Given the description of an element on the screen output the (x, y) to click on. 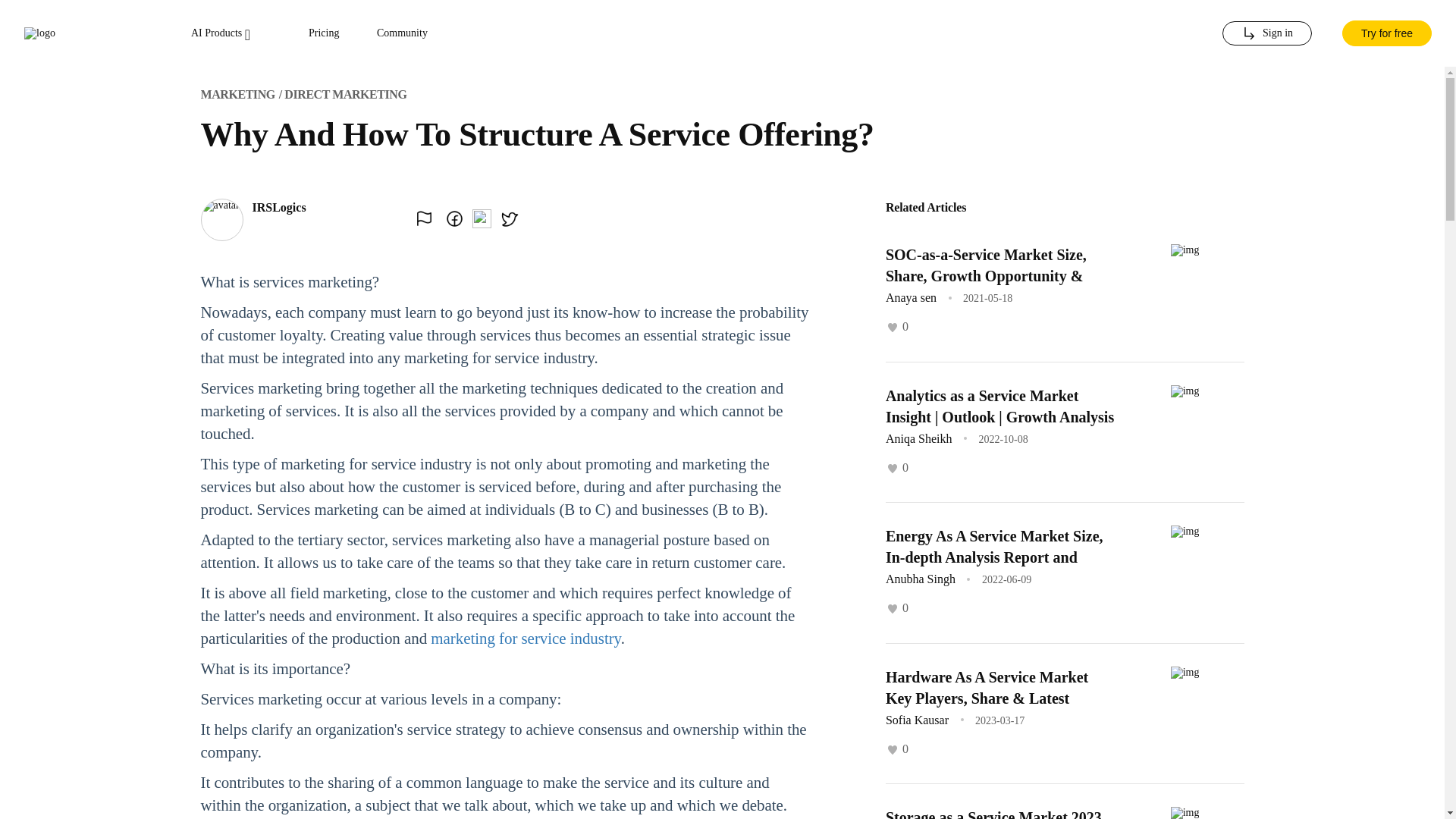
Try for free (1386, 32)
MARKETING (237, 93)
Pricing (323, 33)
marketing for service industry (525, 638)
Community (402, 33)
DIRECT MARKETING (344, 93)
 Sign in (1267, 33)
